Given the description of an element on the screen output the (x, y) to click on. 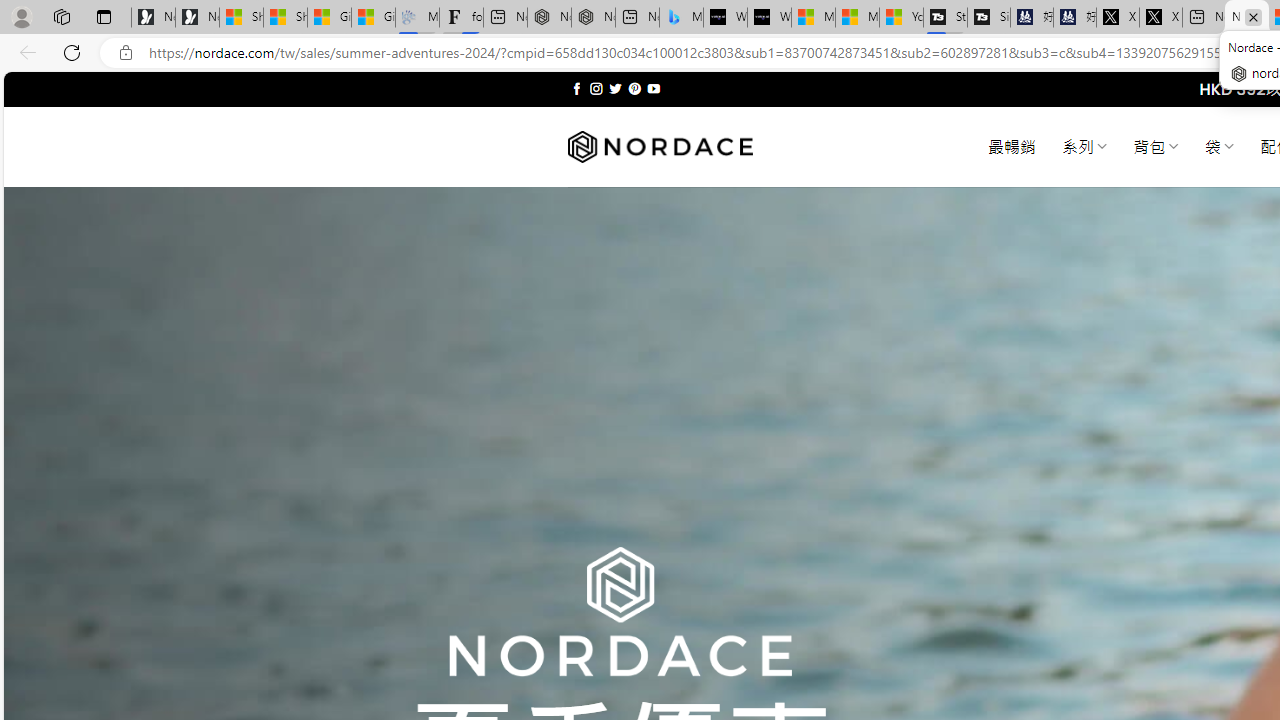
Shanghai, China weather forecast | Microsoft Weather (285, 17)
Follow on YouTube (653, 88)
Newsletter Sign Up (196, 17)
Follow on Twitter (615, 88)
